Given the description of an element on the screen output the (x, y) to click on. 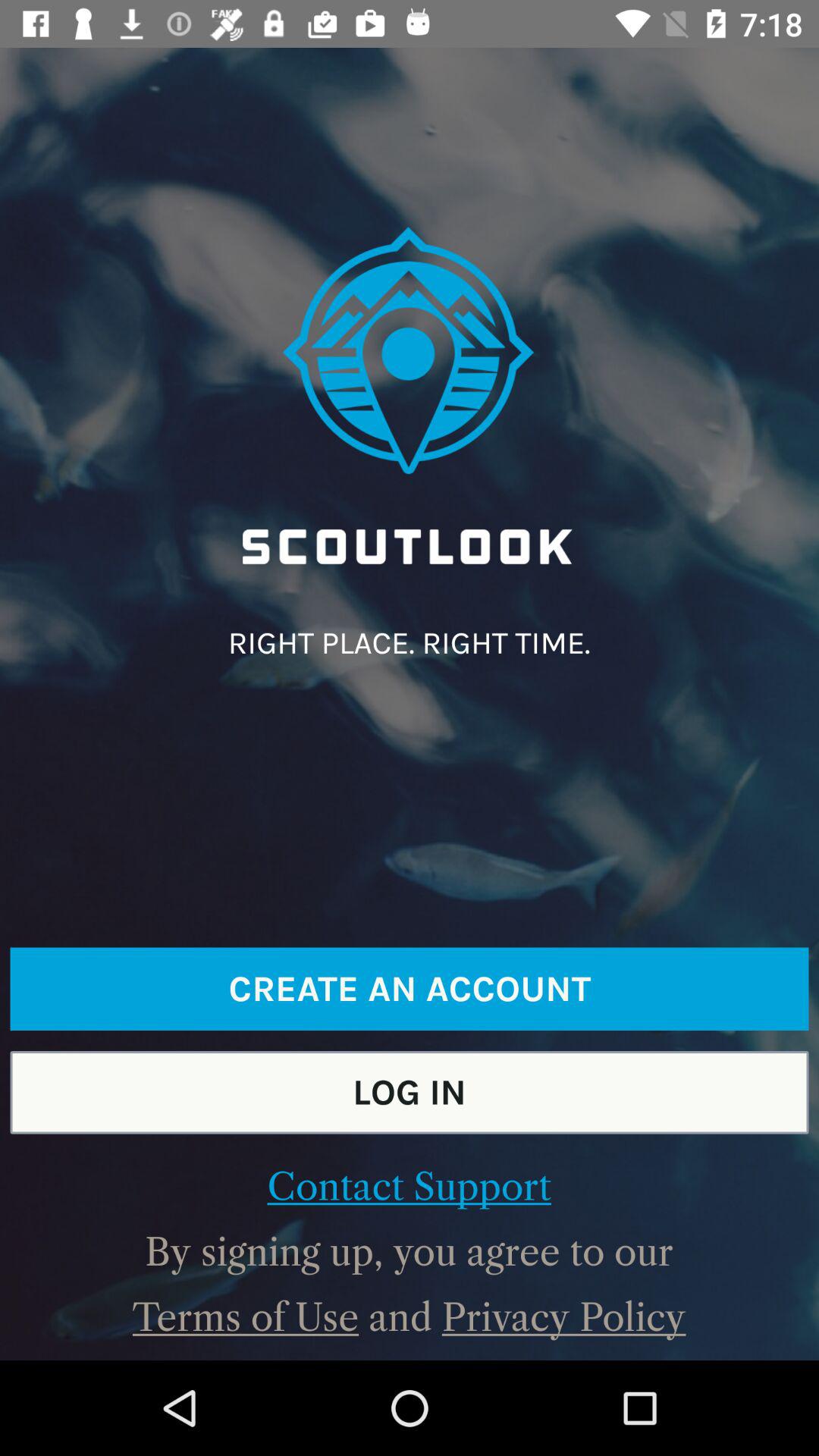
choose the item above the log in item (409, 988)
